Given the description of an element on the screen output the (x, y) to click on. 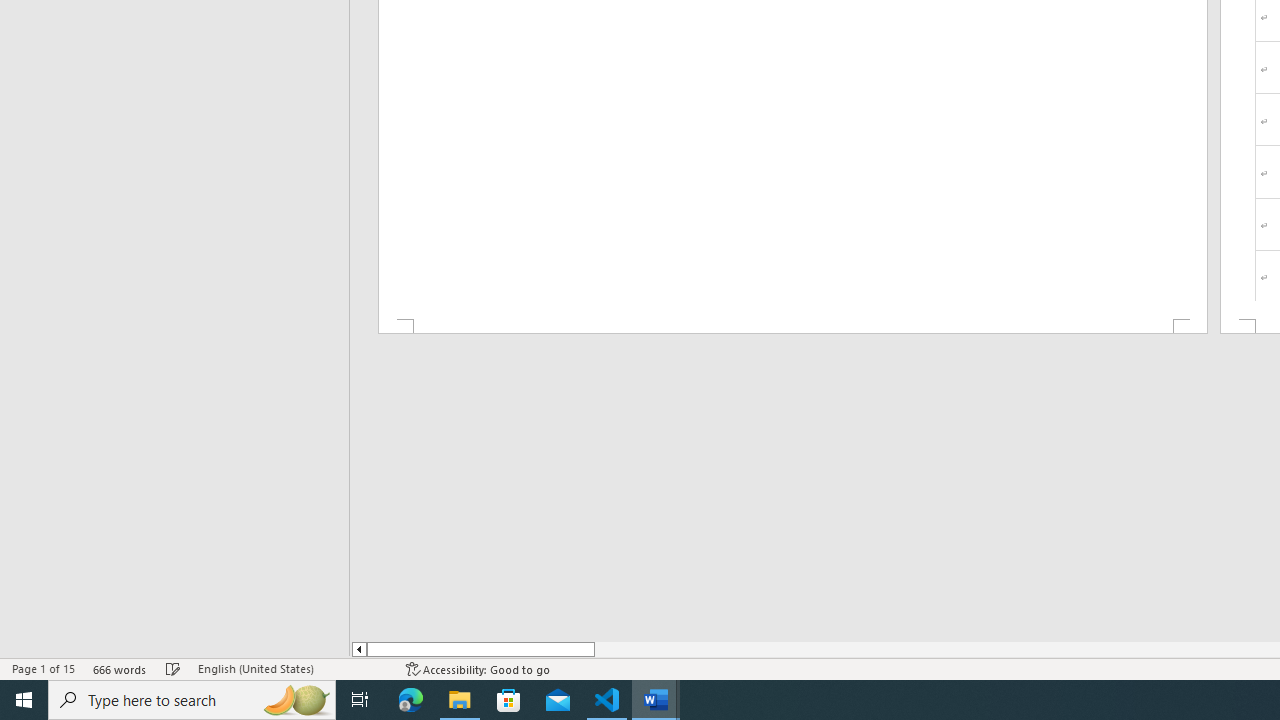
Page Number Page 1 of 15 (43, 668)
Column left (358, 649)
